Given the description of an element on the screen output the (x, y) to click on. 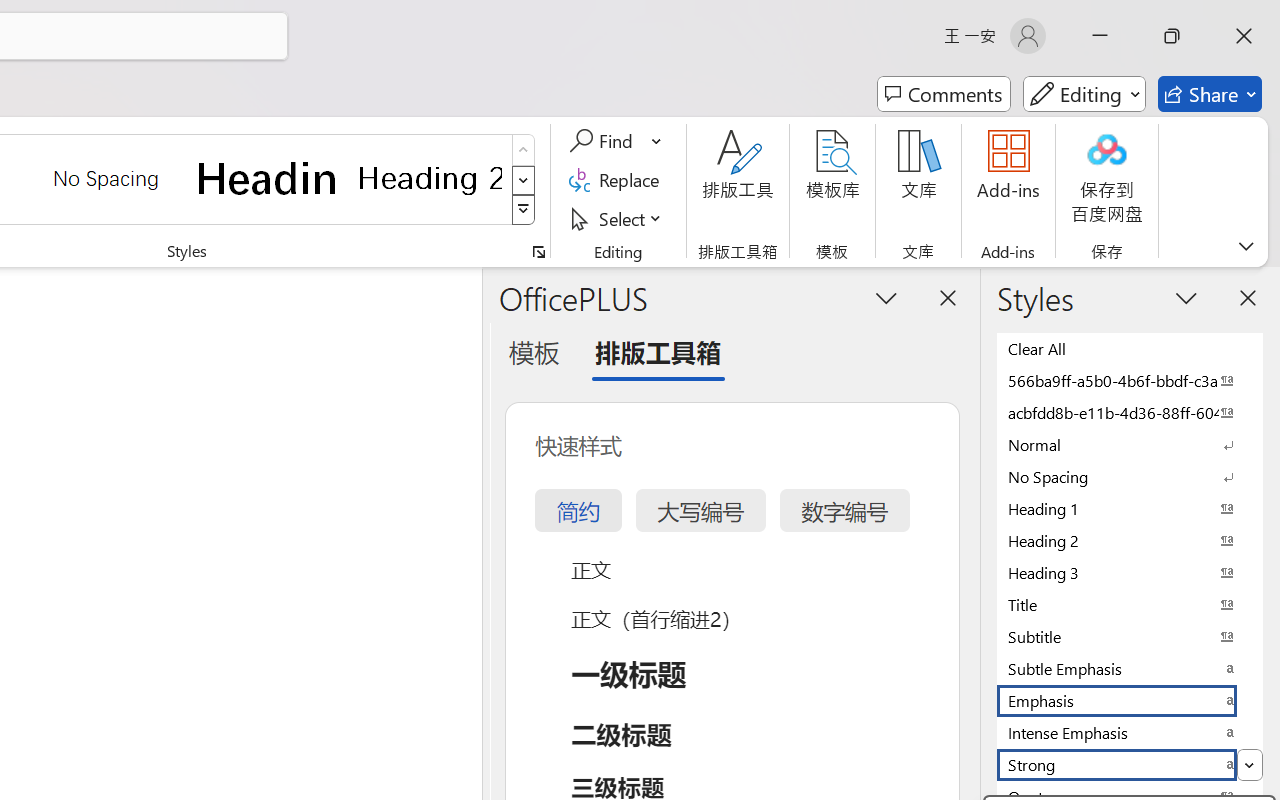
Row Down (523, 180)
Emphasis (1130, 700)
Strong (1130, 764)
Close (1244, 36)
Class: NetUIImage (523, 210)
Styles... (538, 252)
Heading 3 (1130, 572)
